Given the description of an element on the screen output the (x, y) to click on. 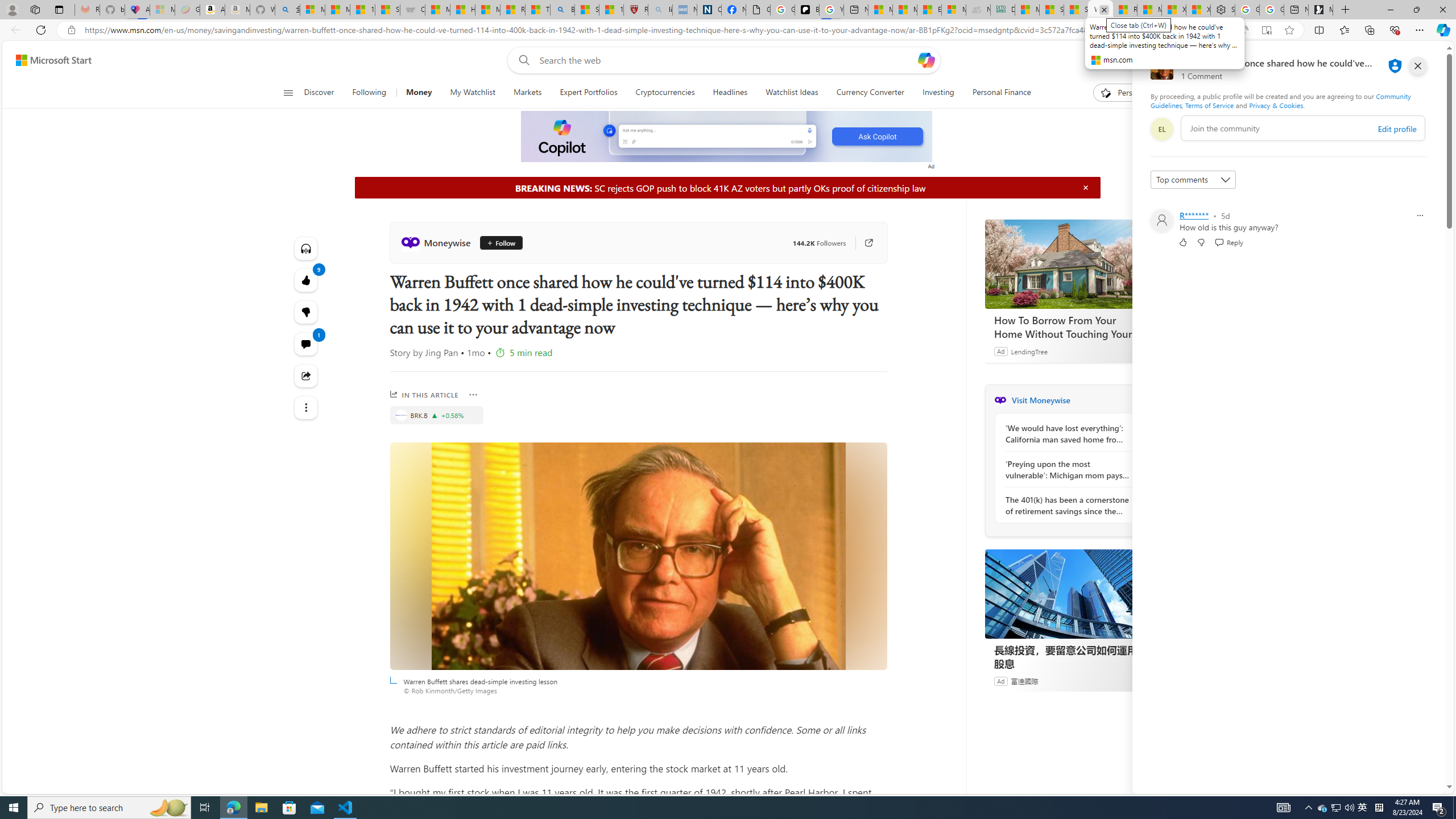
Share this story (305, 375)
R******* | Trusted Community Engagement and Contributions (1124, 9)
Moneywise (438, 242)
Google Analytics Opt-out Browser Add-on Download Page (757, 9)
Edit profile (1396, 128)
Bing (562, 9)
